Given the description of an element on the screen output the (x, y) to click on. 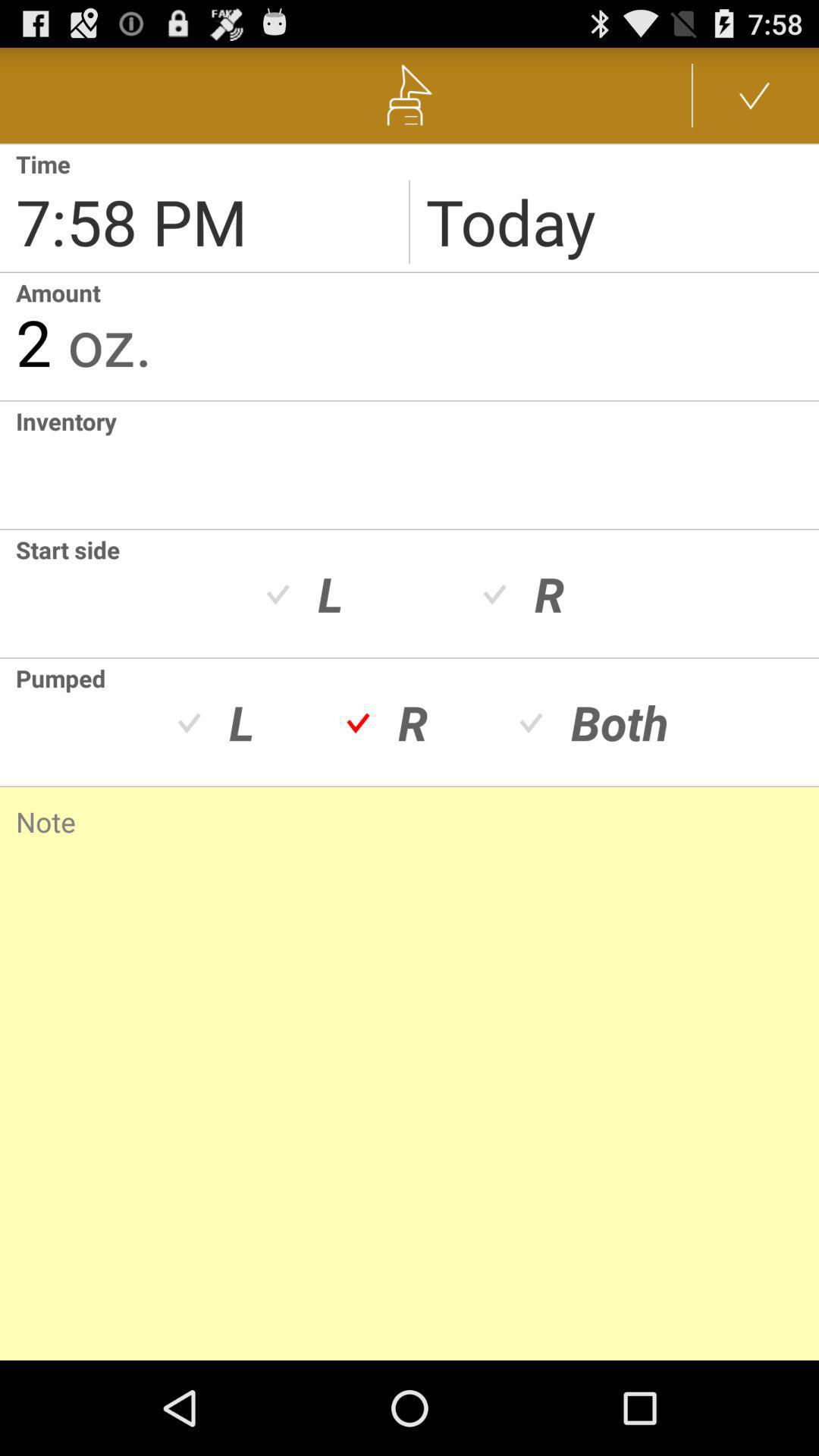
present time (204, 207)
